Given the description of an element on the screen output the (x, y) to click on. 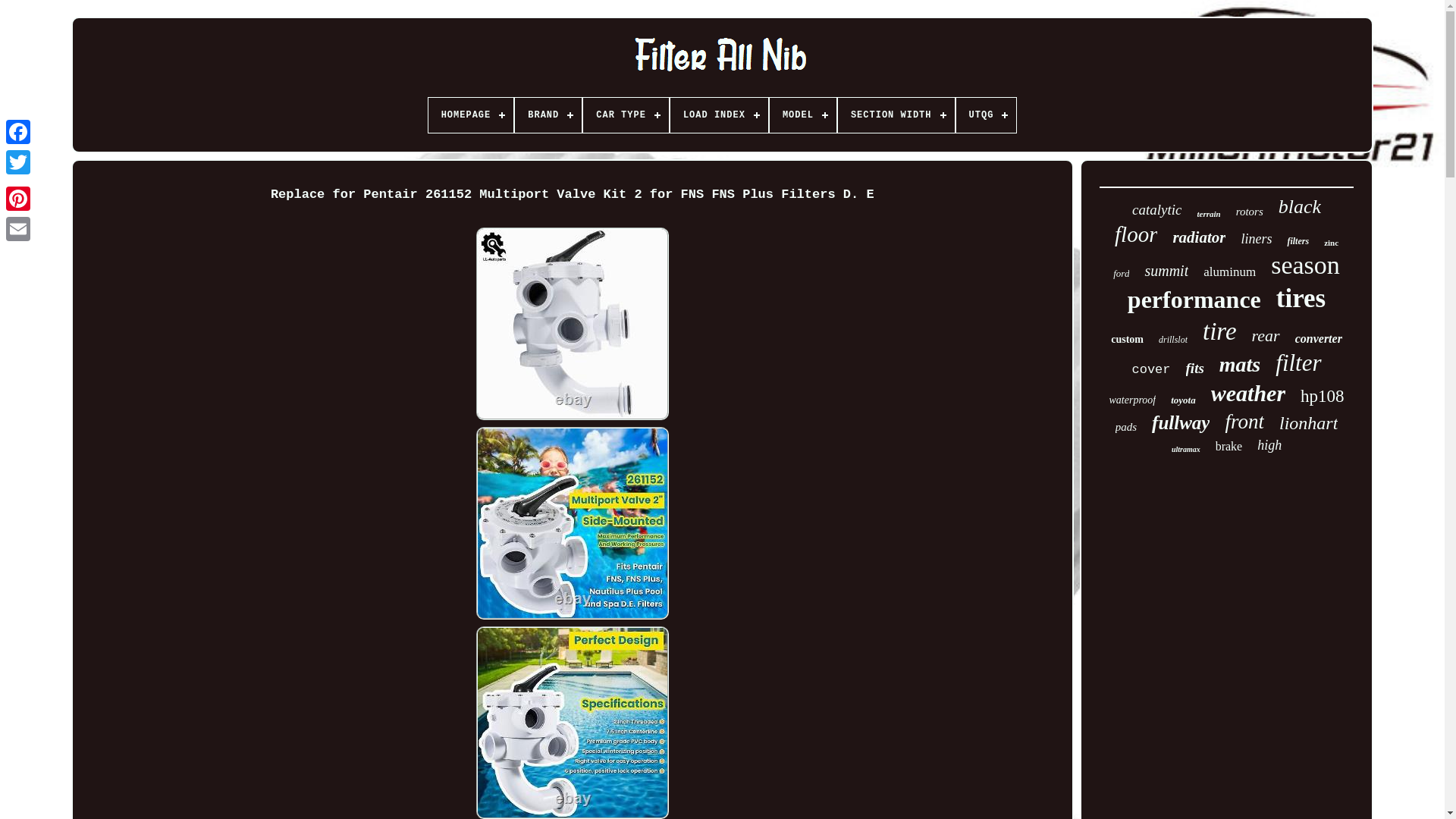
CAR TYPE (625, 114)
HOMEPAGE (470, 114)
BRAND (547, 114)
